Given the description of an element on the screen output the (x, y) to click on. 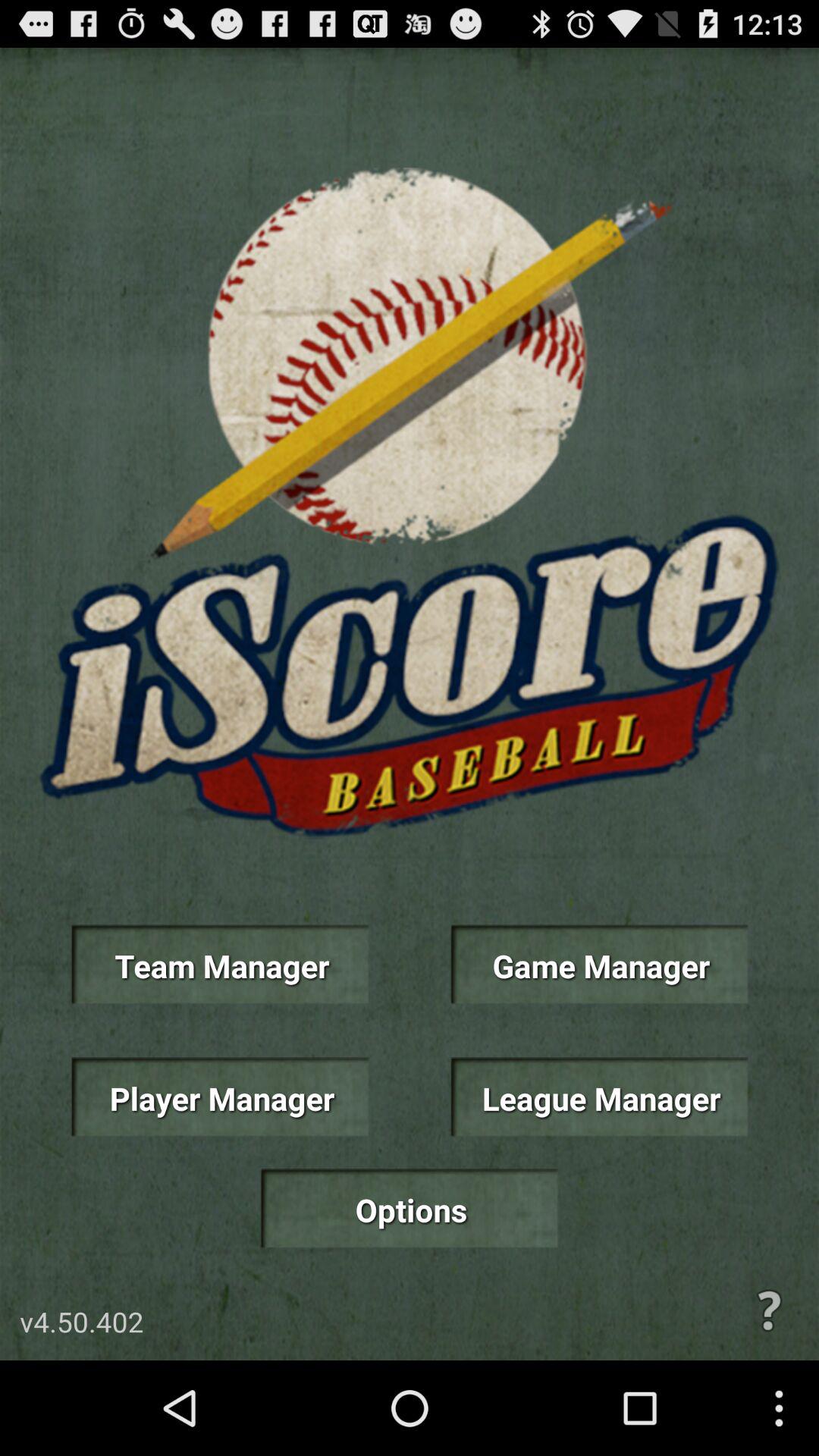
select the item on the right (598, 964)
